Given the description of an element on the screen output the (x, y) to click on. 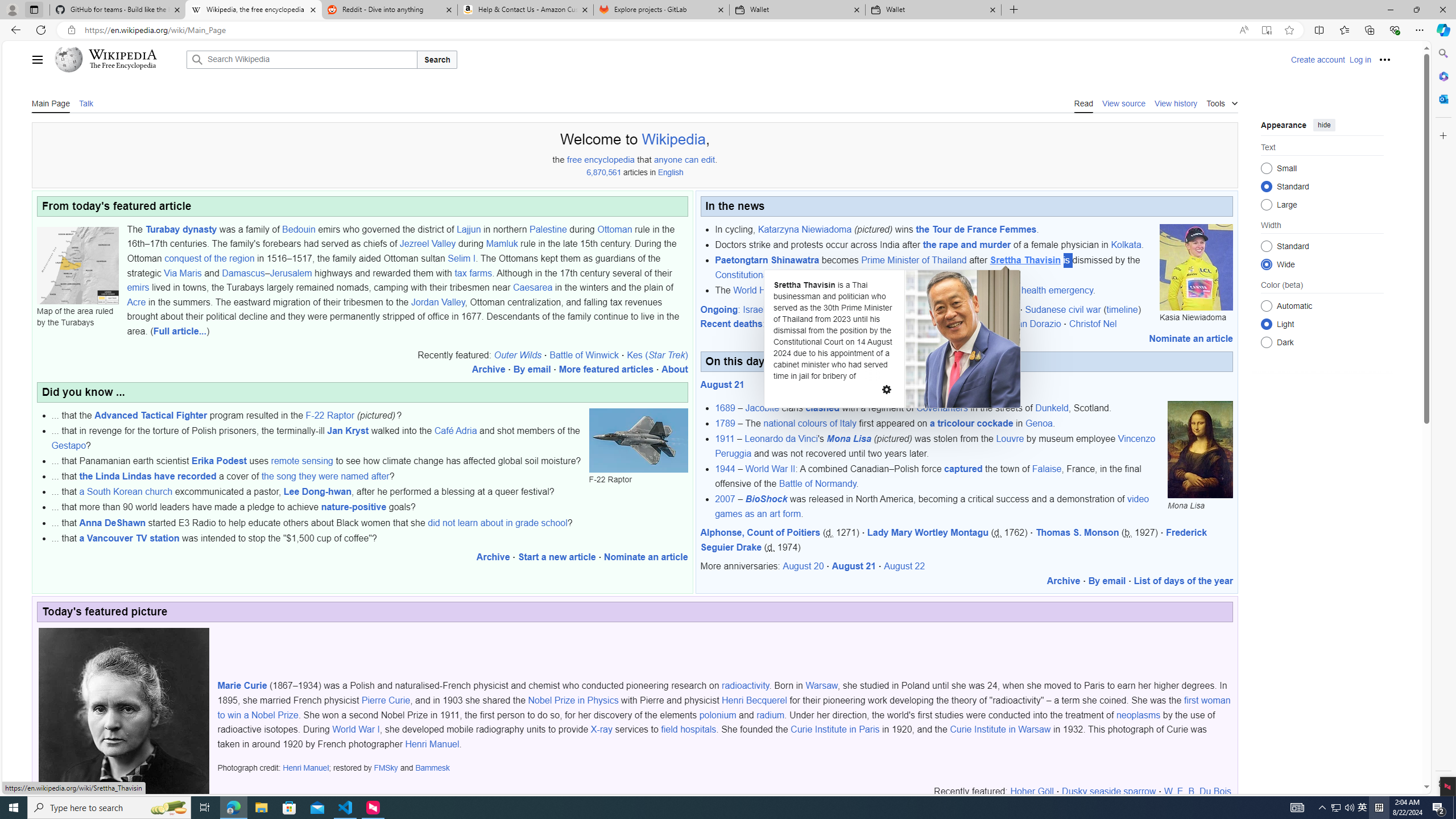
Create account (1317, 58)
1689 (724, 407)
By email (1106, 580)
polonium (717, 714)
Marie Curie (241, 685)
Bammesk (431, 768)
Silvio Santos (913, 324)
Battle of Winwick (583, 354)
Erika Podest (218, 460)
Jerusalem (290, 272)
Archive (1063, 580)
timeline (1122, 309)
Prime Minister of Thailand (913, 260)
